Given the description of an element on the screen output the (x, y) to click on. 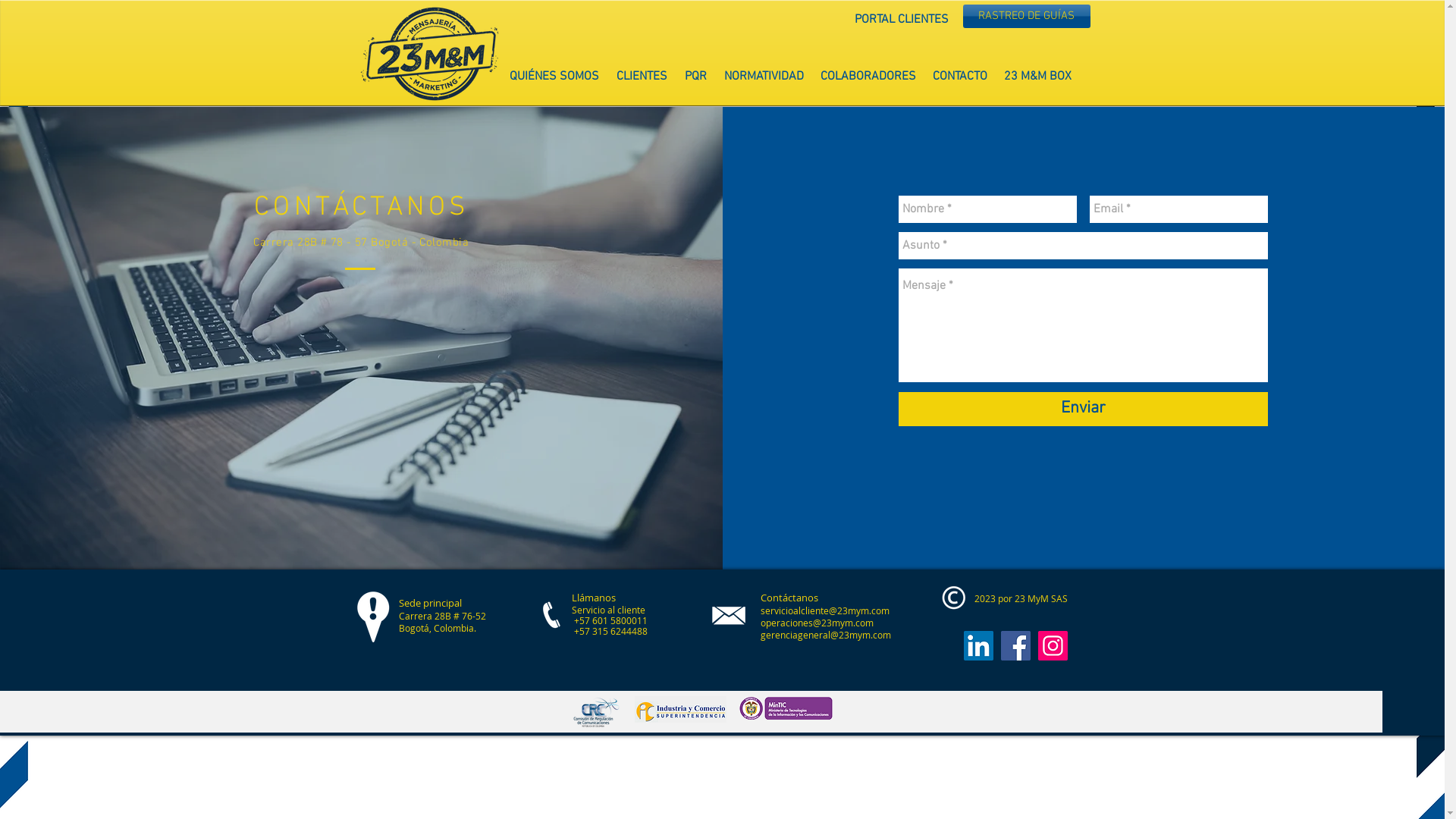
gerenciageneral@23mym.com Element type: text (824, 634)
operaciones@23mym.com Element type: text (815, 622)
PORTAL CLIENTES Element type: text (901, 19)
servicioalcliente@23mym.com Element type: text (823, 610)
Enviar Element type: text (1082, 409)
23 M&M BOX Element type: text (1036, 76)
